Given the description of an element on the screen output the (x, y) to click on. 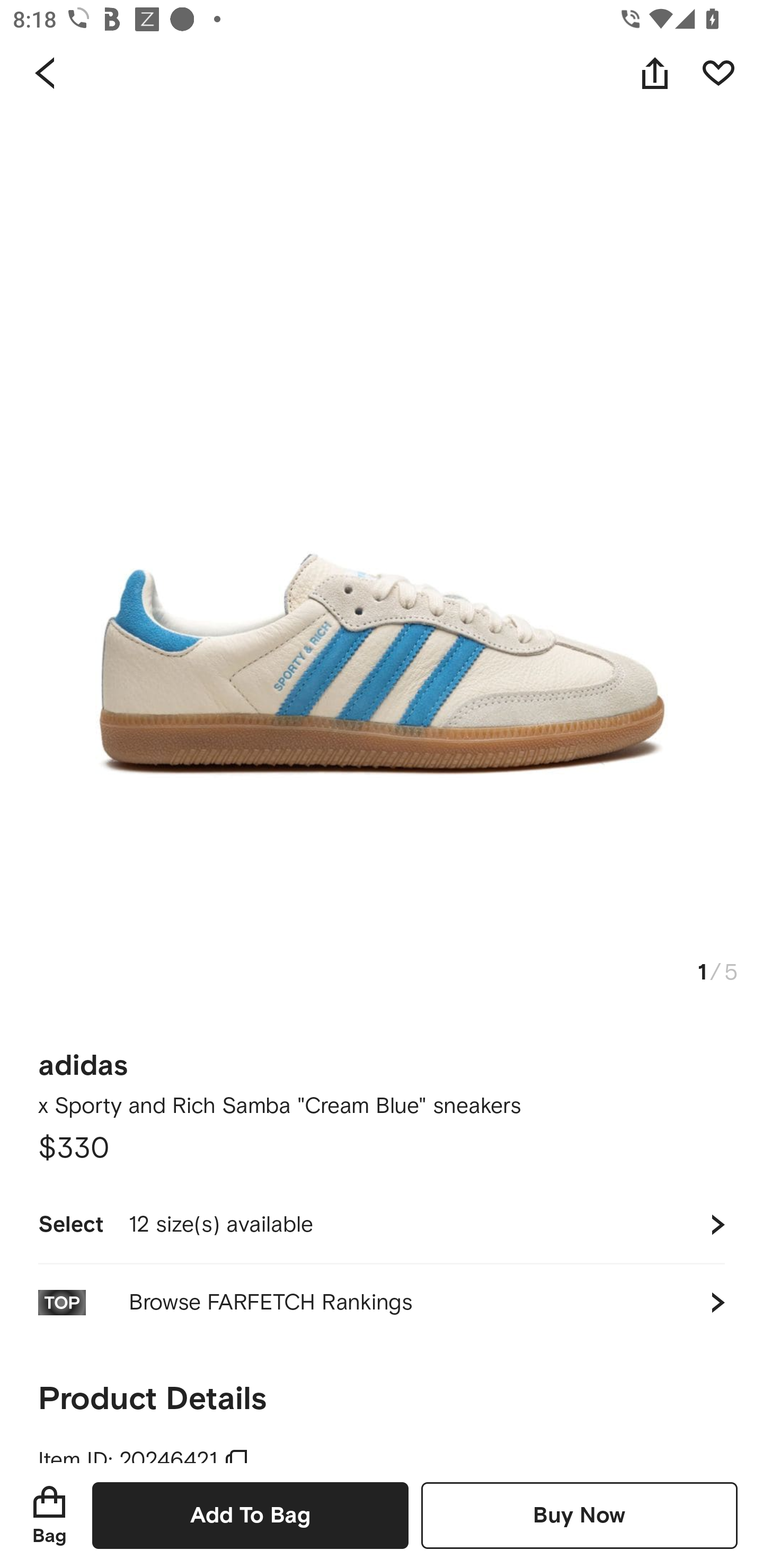
adidas (83, 1059)
Select 12 size(s) available (381, 1224)
Browse FARFETCH Rankings (381, 1301)
Bag (49, 1515)
Add To Bag (250, 1515)
Buy Now (579, 1515)
